Given the description of an element on the screen output the (x, y) to click on. 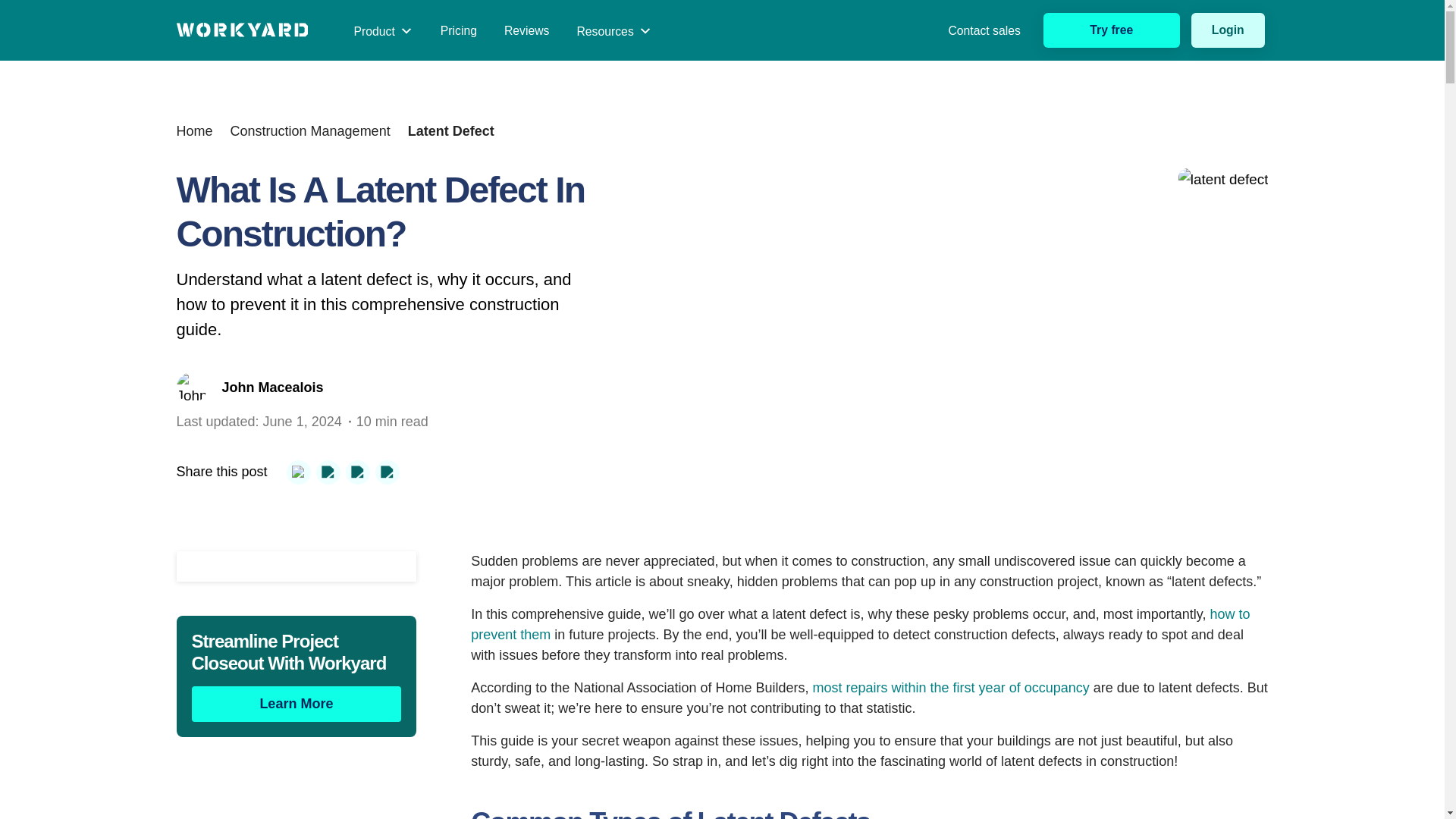
LinkedIn (387, 472)
Login (1228, 30)
Facebook (327, 472)
Pricing (458, 29)
Home (194, 130)
Reviews (526, 29)
Contact sales (968, 31)
Resources (613, 29)
Product (382, 29)
Try free (1111, 30)
